Given the description of an element on the screen output the (x, y) to click on. 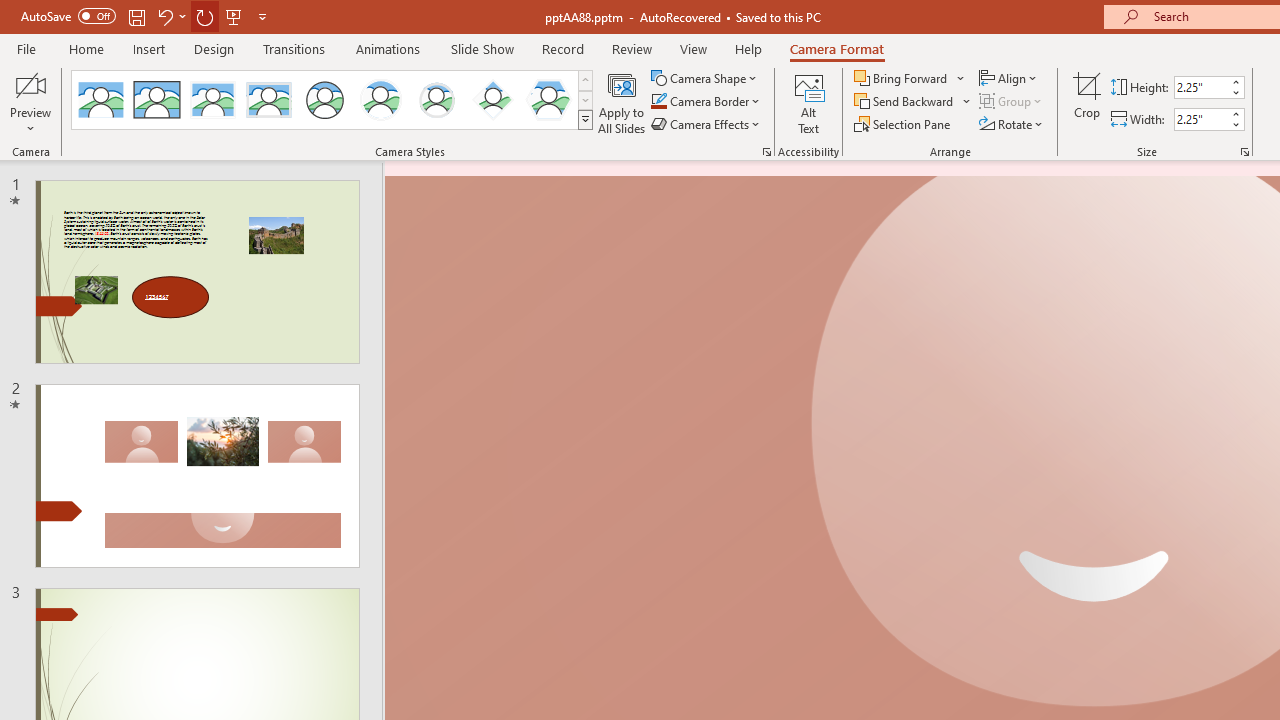
Apply to All Slides (621, 102)
Camera Styles (585, 120)
